Given the description of an element on the screen output the (x, y) to click on. 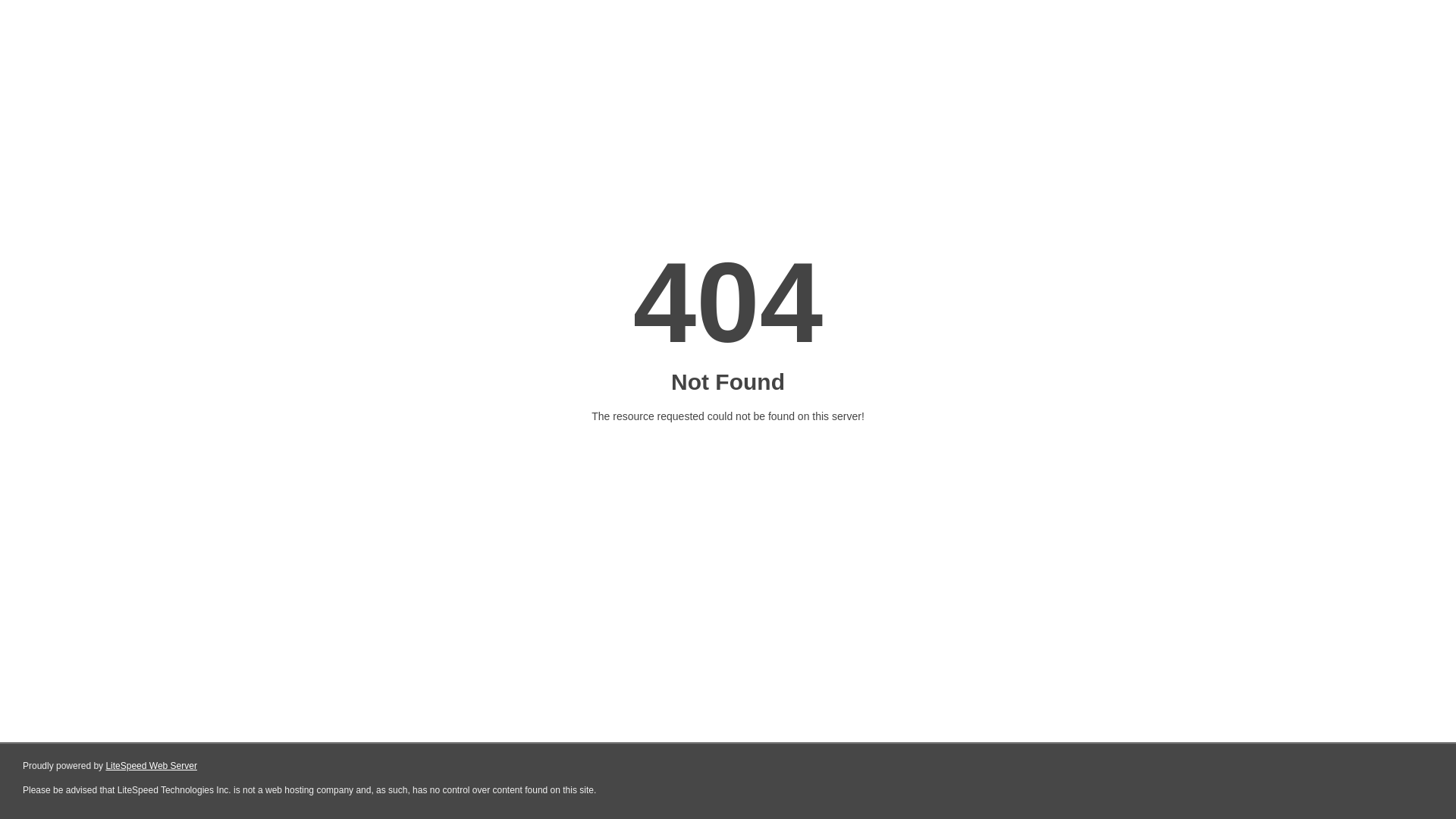
LiteSpeed Web Server (150, 765)
